Given the description of an element on the screen output the (x, y) to click on. 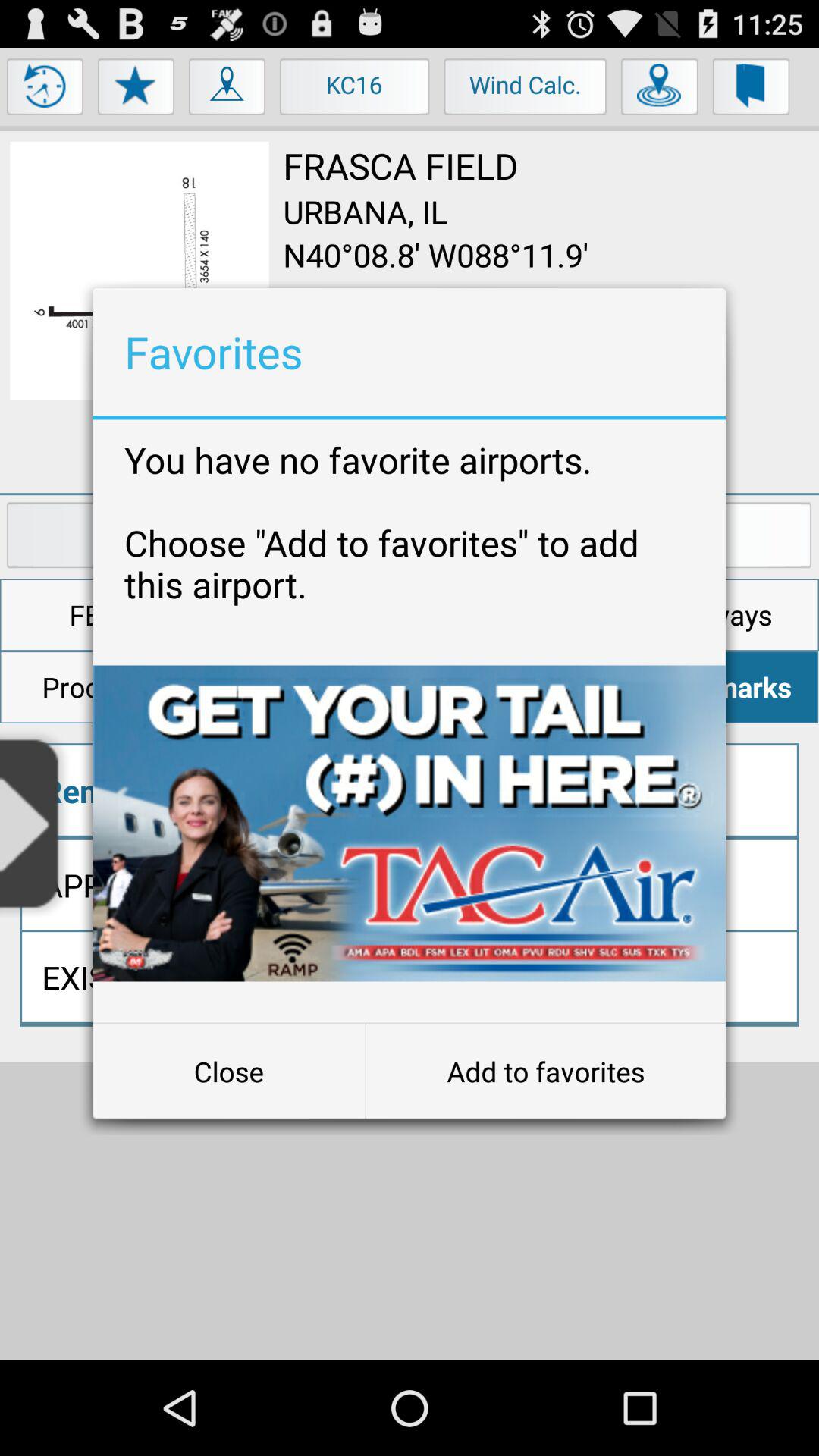
select the button next to add to favorites item (228, 1071)
